Given the description of an element on the screen output the (x, y) to click on. 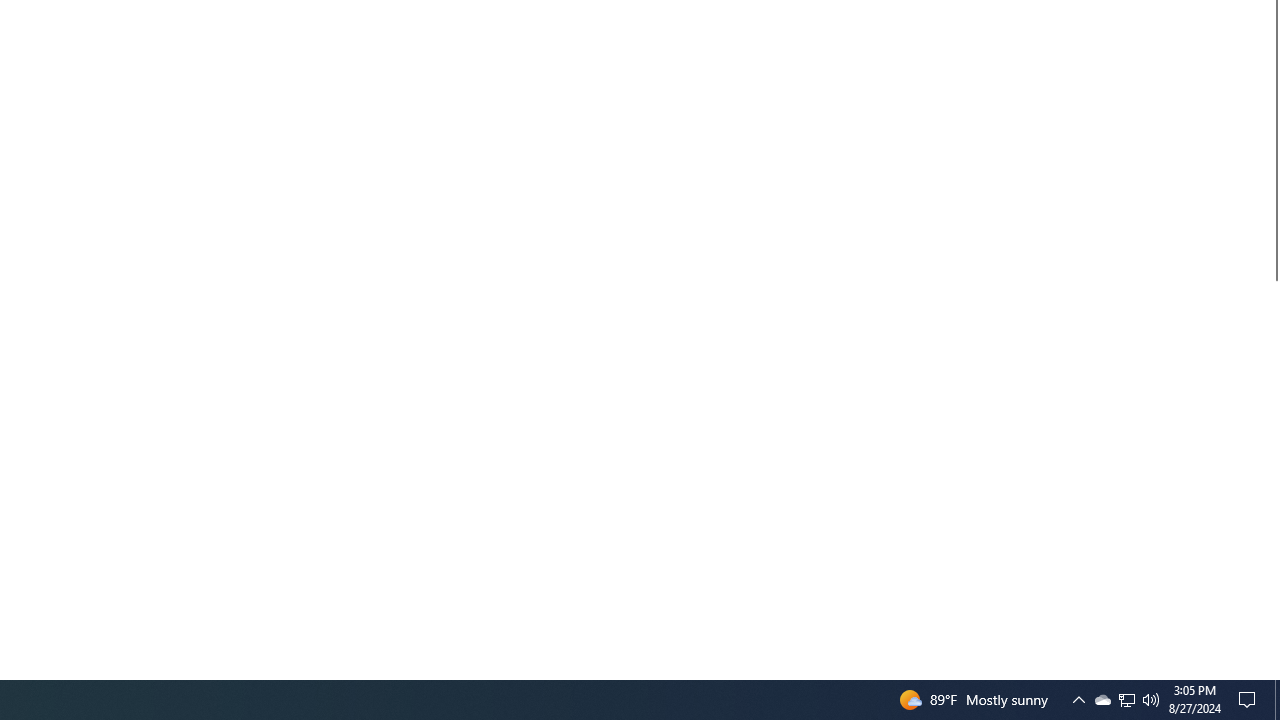
Vertical Large Increase (1272, 471)
Vertical Small Increase (1272, 671)
